Given the description of an element on the screen output the (x, y) to click on. 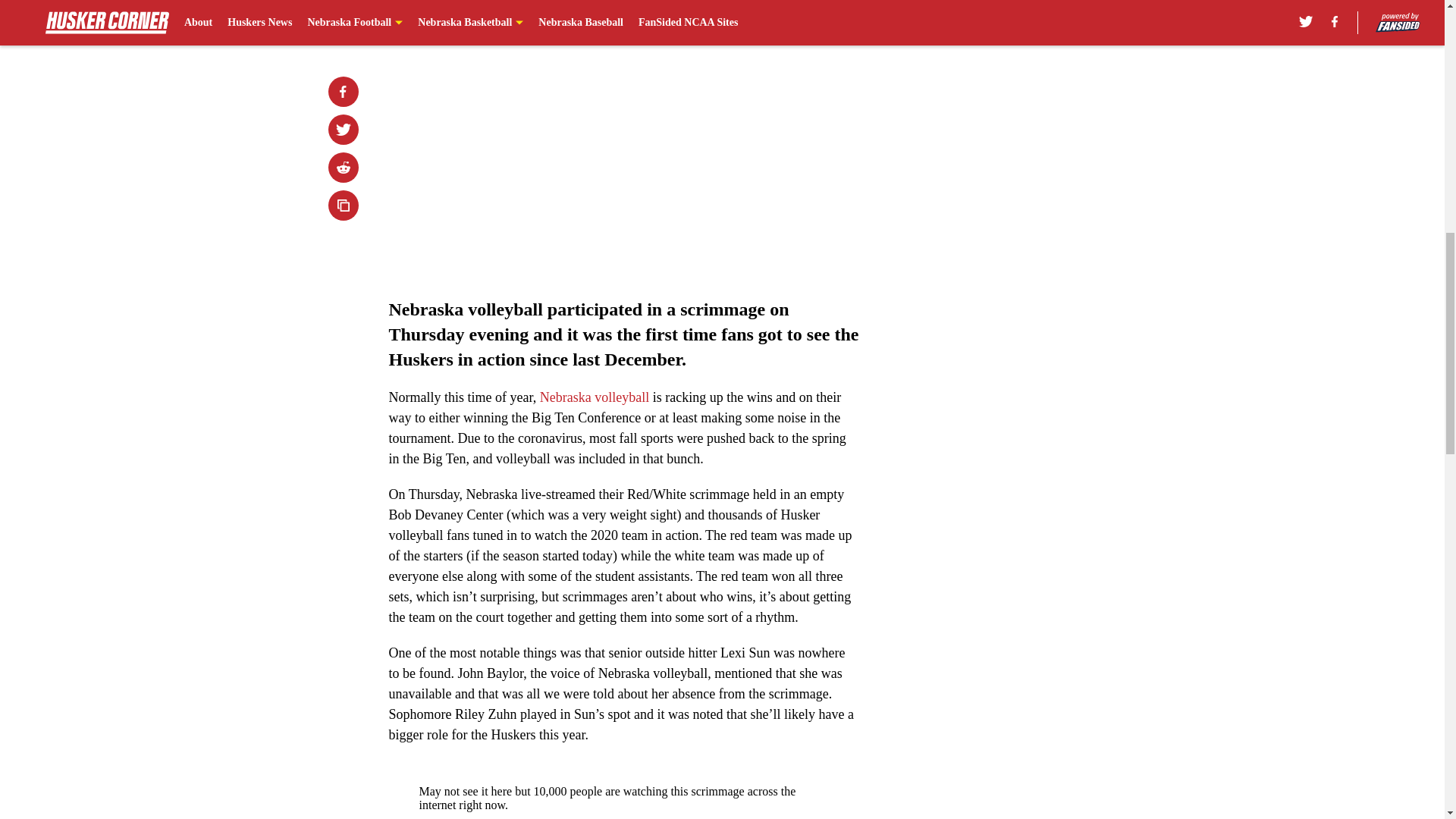
Nebraska volleyball (594, 396)
